Given the description of an element on the screen output the (x, y) to click on. 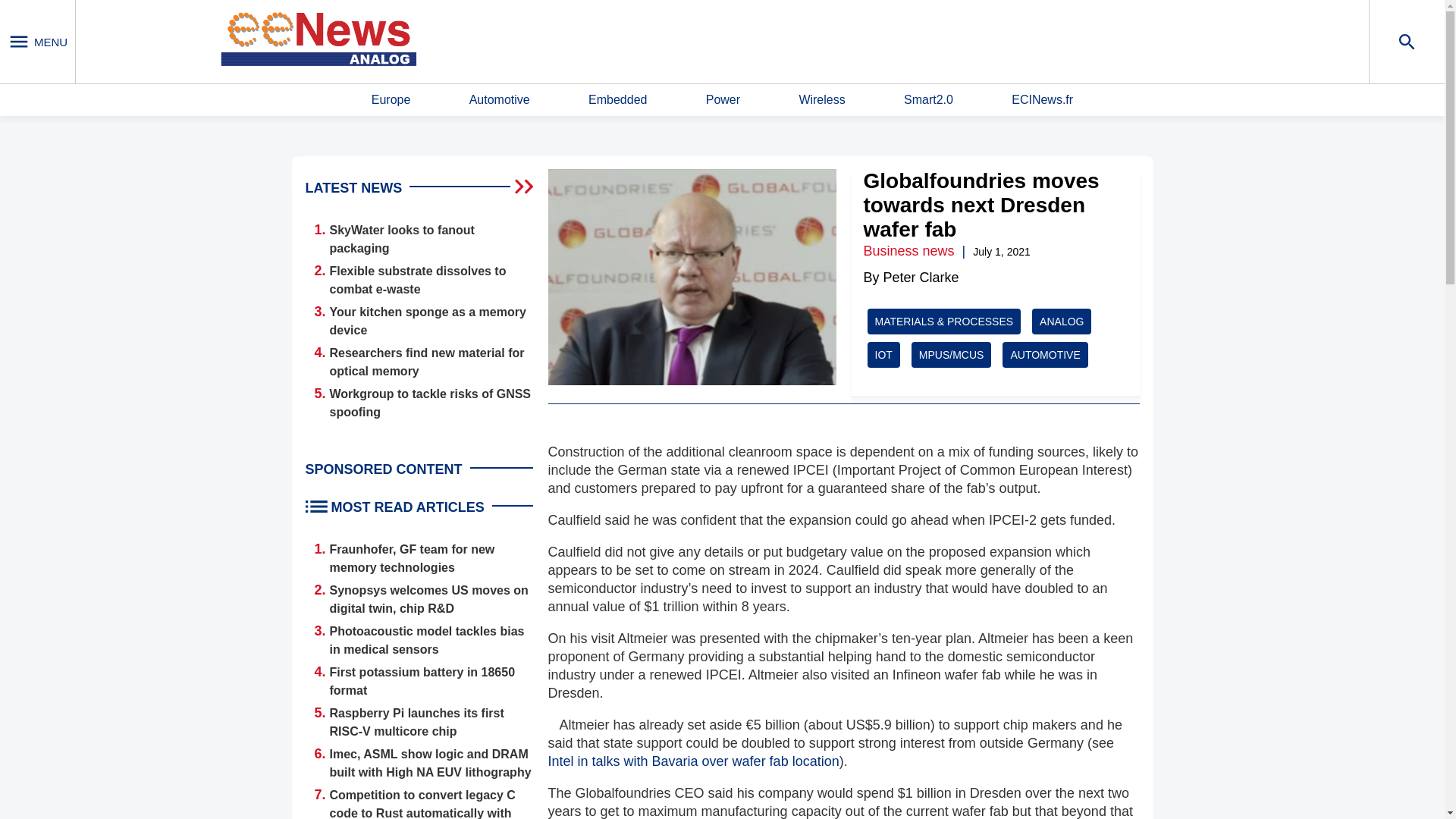
ECINews.fr (1042, 99)
Europe (390, 99)
Automotive (498, 99)
Embedded (617, 99)
Wireless (820, 99)
Power (722, 99)
Smart2.0 (928, 99)
